Given the description of an element on the screen output the (x, y) to click on. 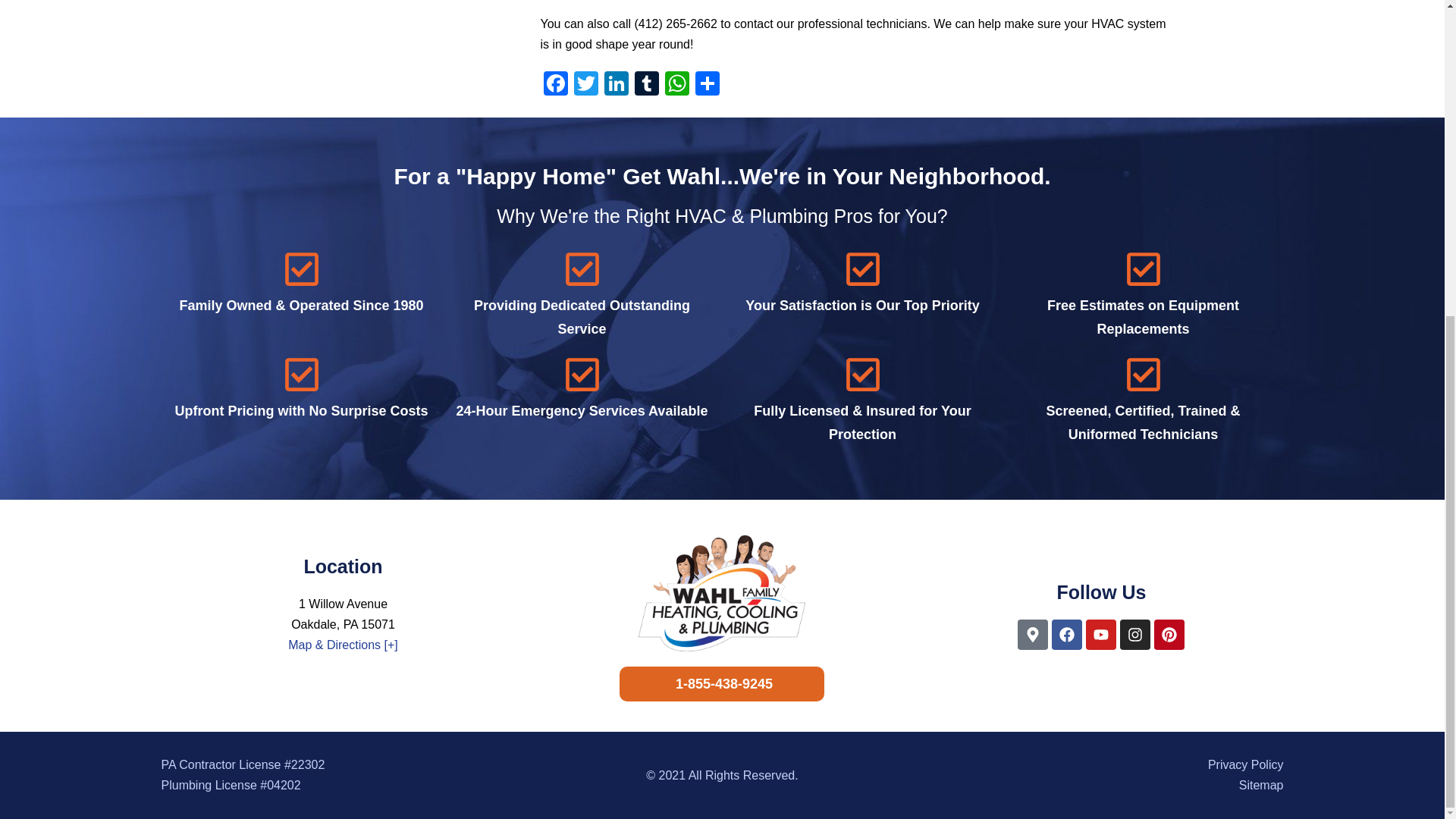
Facebook (555, 85)
Twitter (584, 85)
WhatsApp (676, 85)
Tumblr (645, 85)
LinkedIn (614, 85)
